Given the description of an element on the screen output the (x, y) to click on. 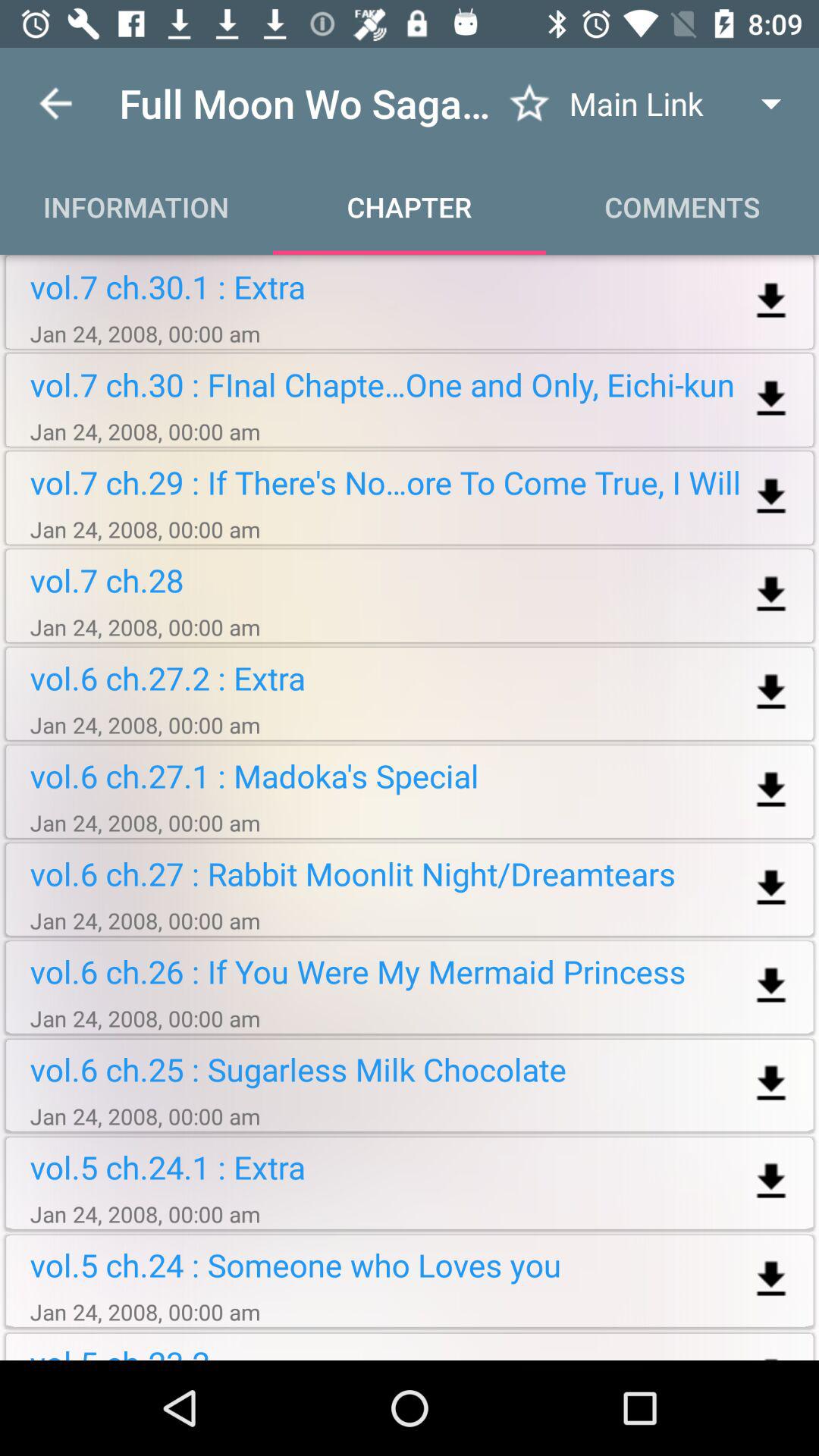
download button (771, 594)
